Given the description of an element on the screen output the (x, y) to click on. 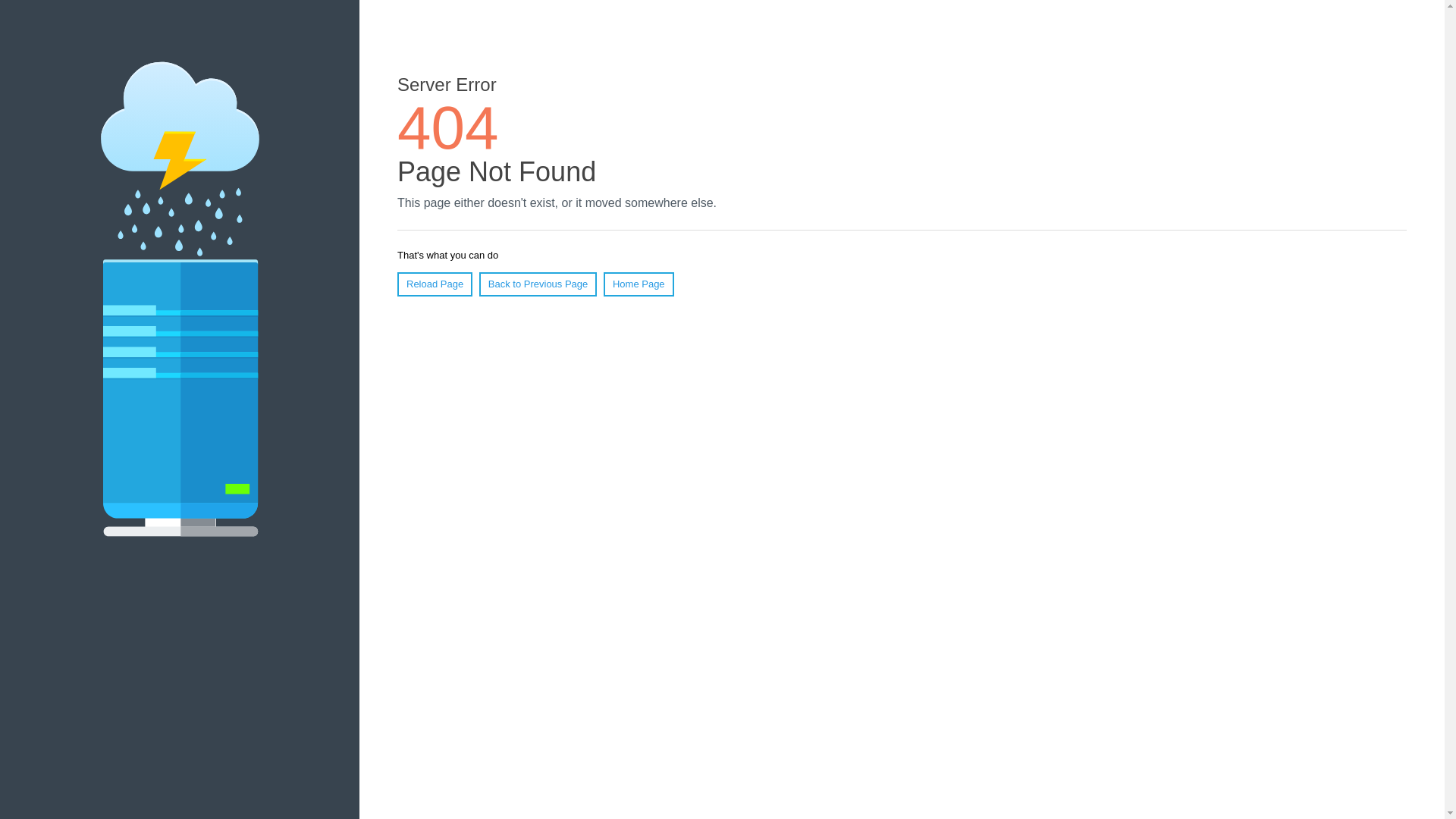
Back to Previous Page Element type: text (538, 284)
Home Page Element type: text (638, 284)
Reload Page Element type: text (434, 284)
